Given the description of an element on the screen output the (x, y) to click on. 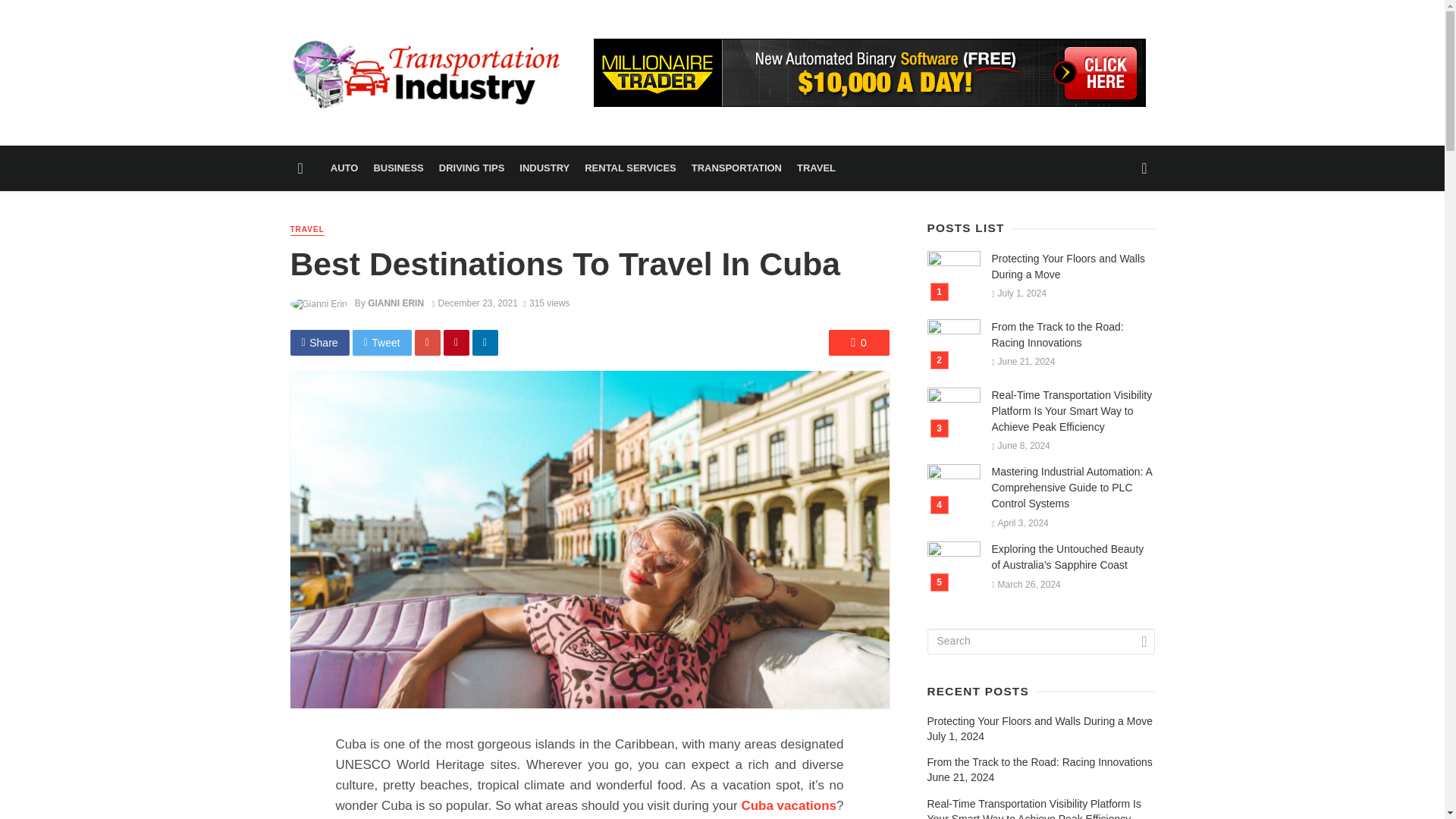
Tweet (382, 342)
INDUSTRY (544, 167)
0 (858, 342)
Share on Twitter (382, 342)
TRAVEL (306, 229)
0 Comments (858, 342)
Share on Facebook (319, 342)
TRANSPORTATION (736, 167)
Share on Pinterest (456, 342)
Share (319, 342)
BUSINESS (397, 167)
Posts by Gianni Erin (395, 303)
Cuba vacations (788, 805)
December 23, 2021 at 10:44 am (475, 303)
DRIVING TIPS (471, 167)
